Given the description of an element on the screen output the (x, y) to click on. 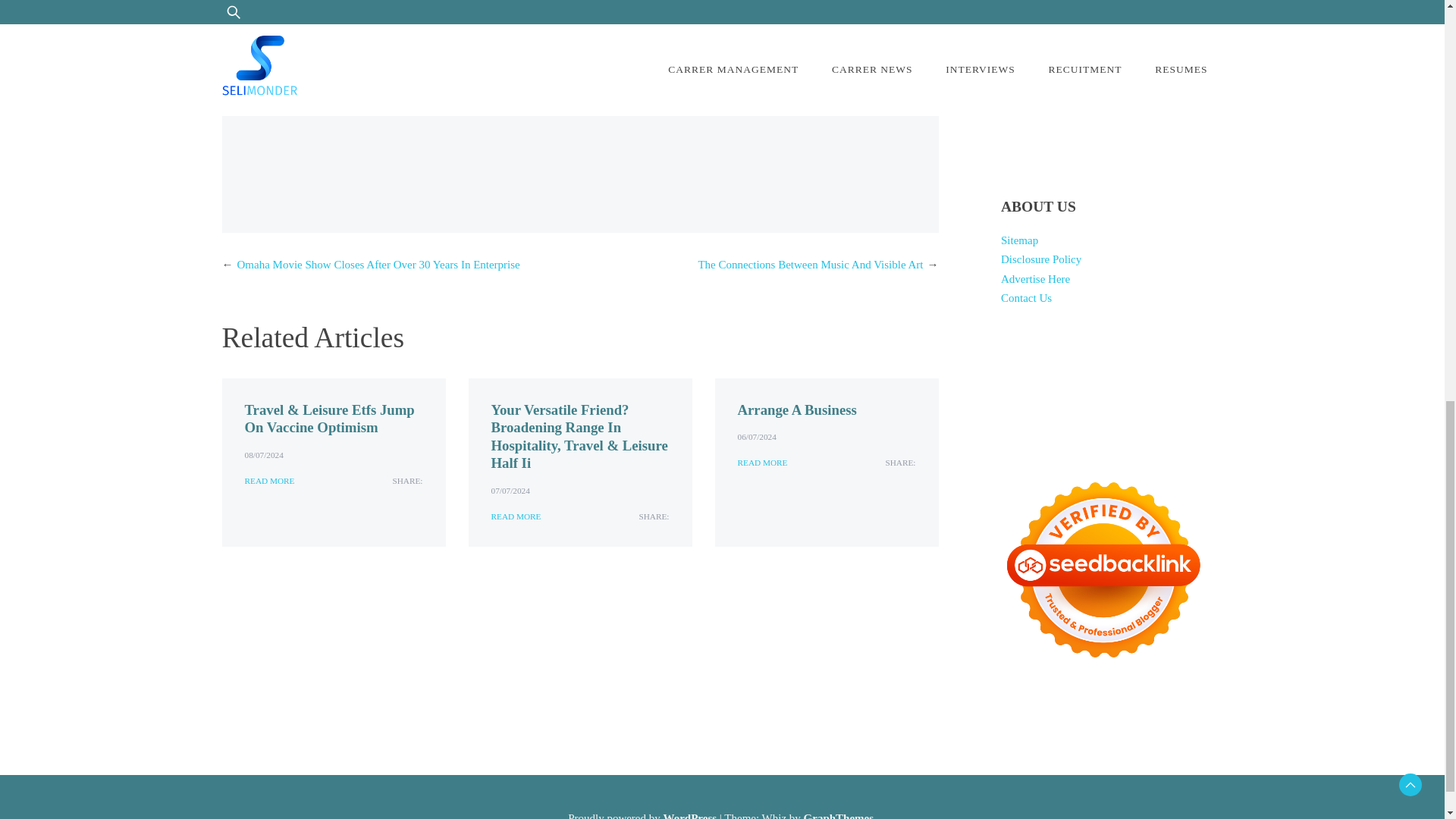
The Connections Between Music And Visible Art (810, 264)
rizal (405, 85)
READ MORE (516, 516)
Arrange A Business (796, 409)
Seedbacklink (1103, 569)
READ MORE (761, 462)
READ MORE (269, 481)
